Given the description of an element on the screen output the (x, y) to click on. 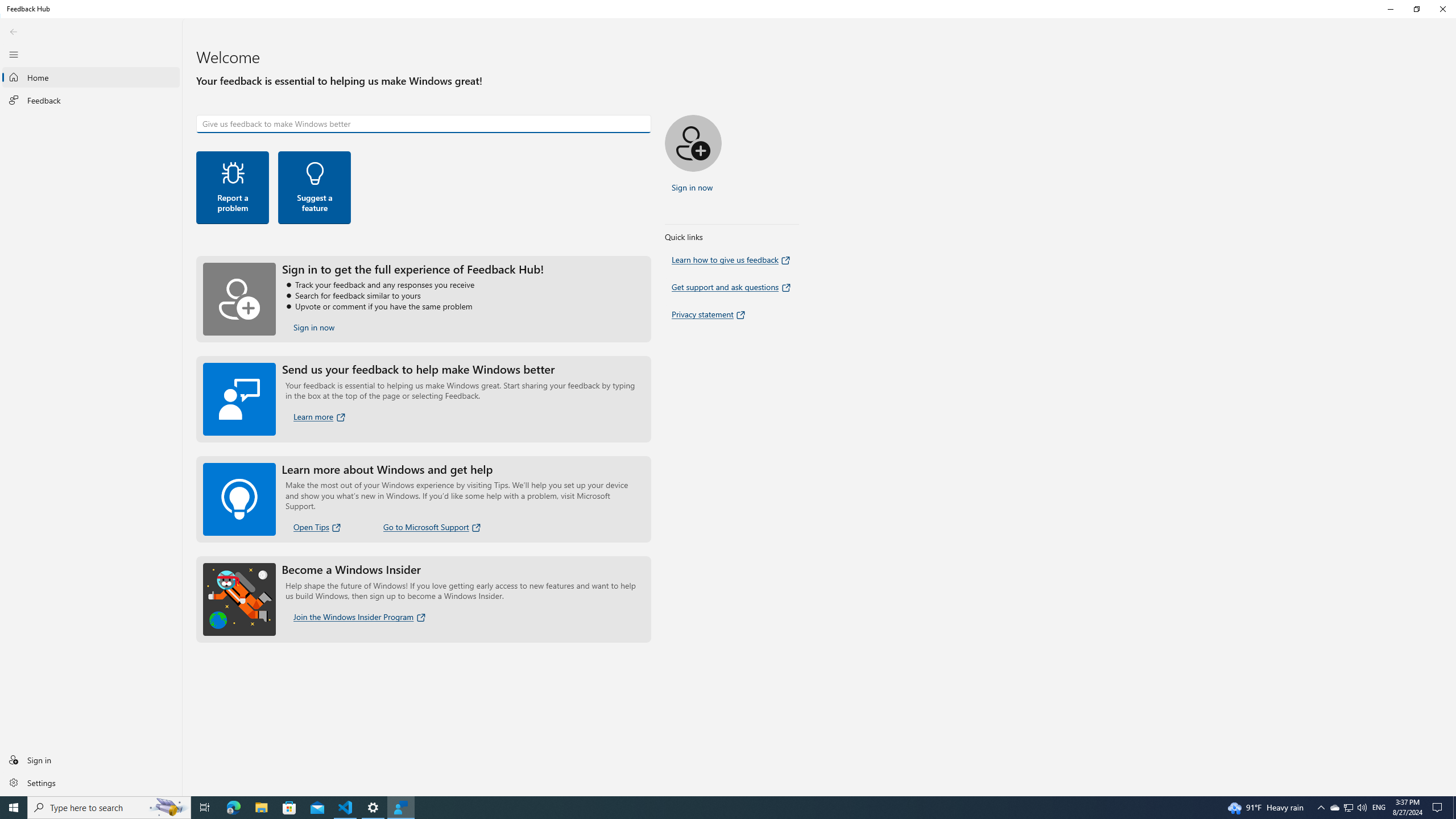
File Explorer (261, 807)
Search highlights icon opens search home window (167, 807)
Vertical Small Decrease (1452, 21)
Task View (1333, 807)
Vertical Small Increase (204, 807)
Show desktop (1452, 792)
Back (1454, 807)
Go to Microsoft Support (13, 31)
Settings - 1 running window (433, 527)
Suggest a feature (373, 807)
User Promoted Notification Area (314, 187)
Vertical Large Increase (1347, 807)
Sign in now (1452, 406)
Open Tips (314, 327)
